Given the description of an element on the screen output the (x, y) to click on. 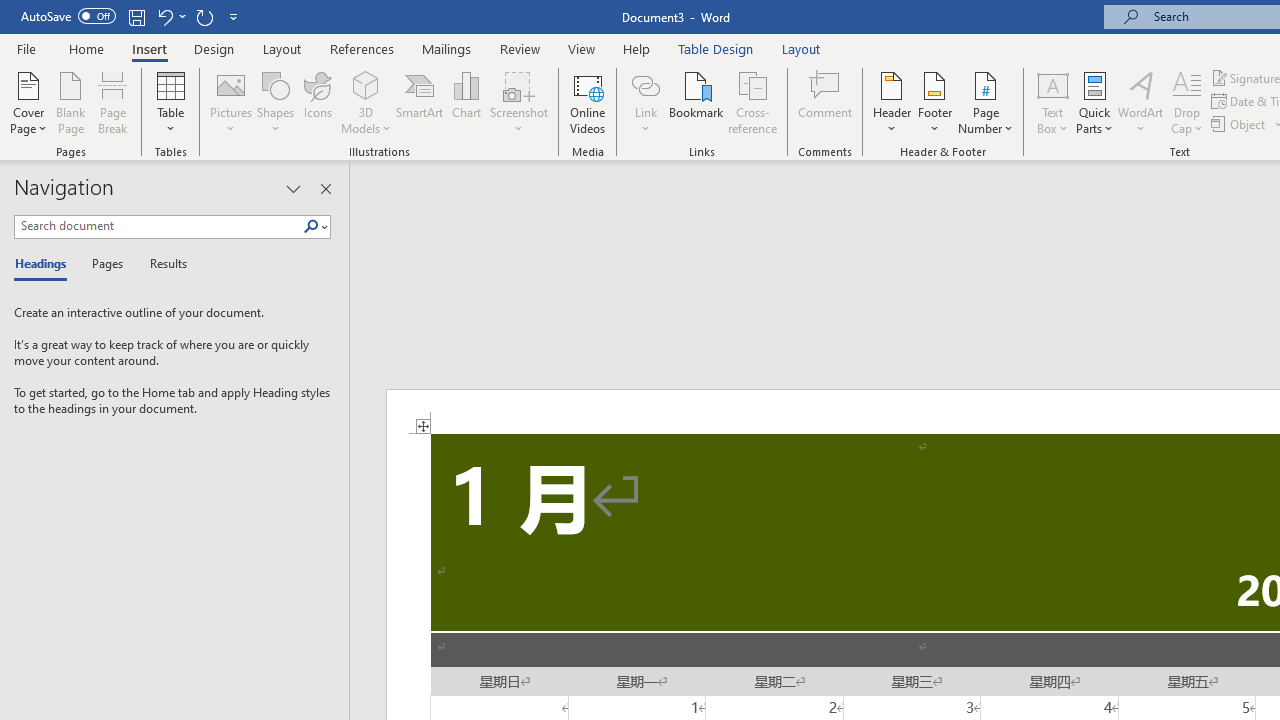
Bookmark... (695, 102)
Screenshot (518, 102)
SmartArt... (419, 102)
Footer (934, 102)
Pages (105, 264)
Search document (157, 226)
Drop Cap (1187, 102)
Repeat Doc Close (204, 15)
Pictures (230, 102)
